Given the description of an element on the screen output the (x, y) to click on. 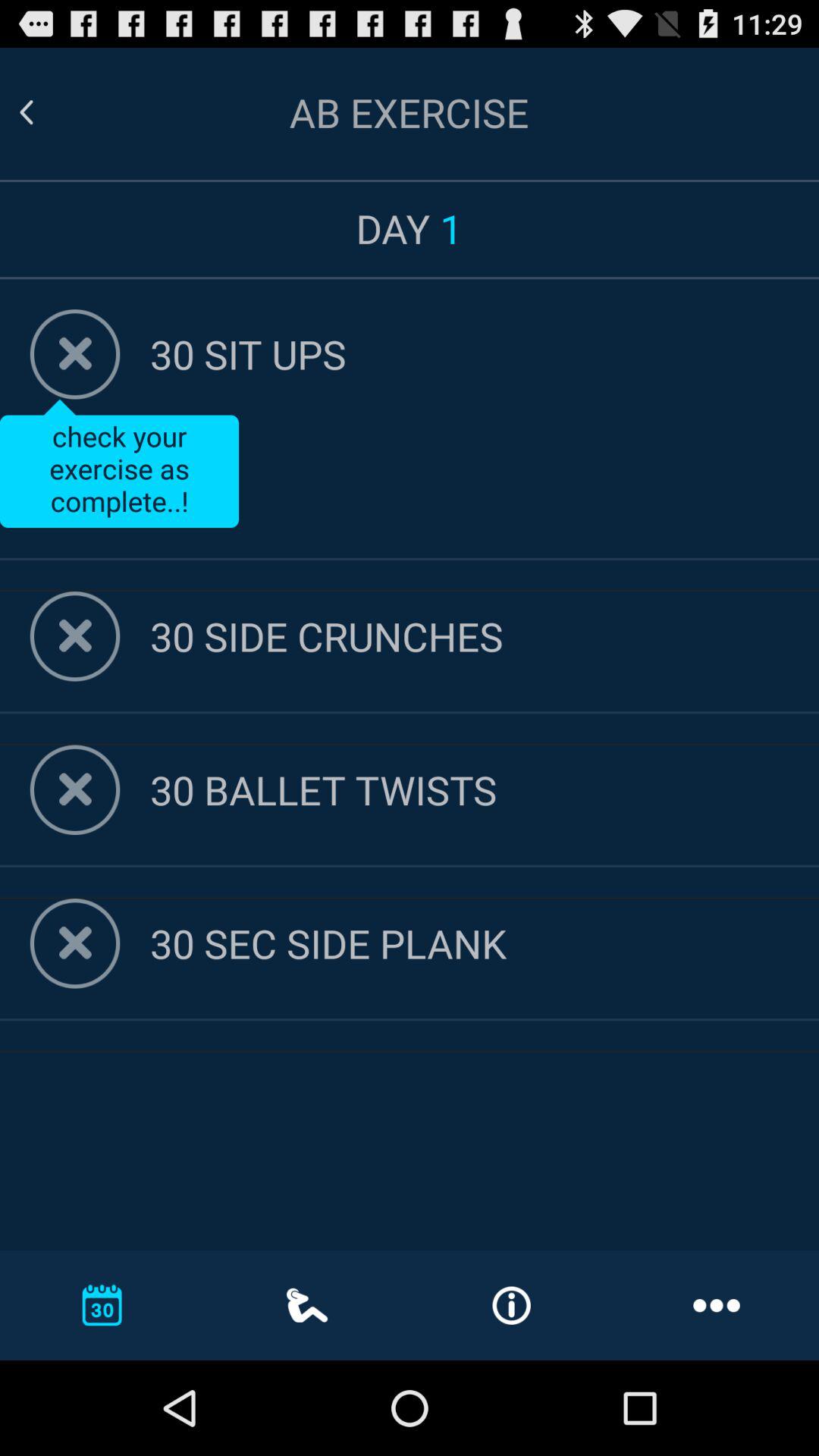
swipe until 30 ballet twists app (484, 789)
